Given the description of an element on the screen output the (x, y) to click on. 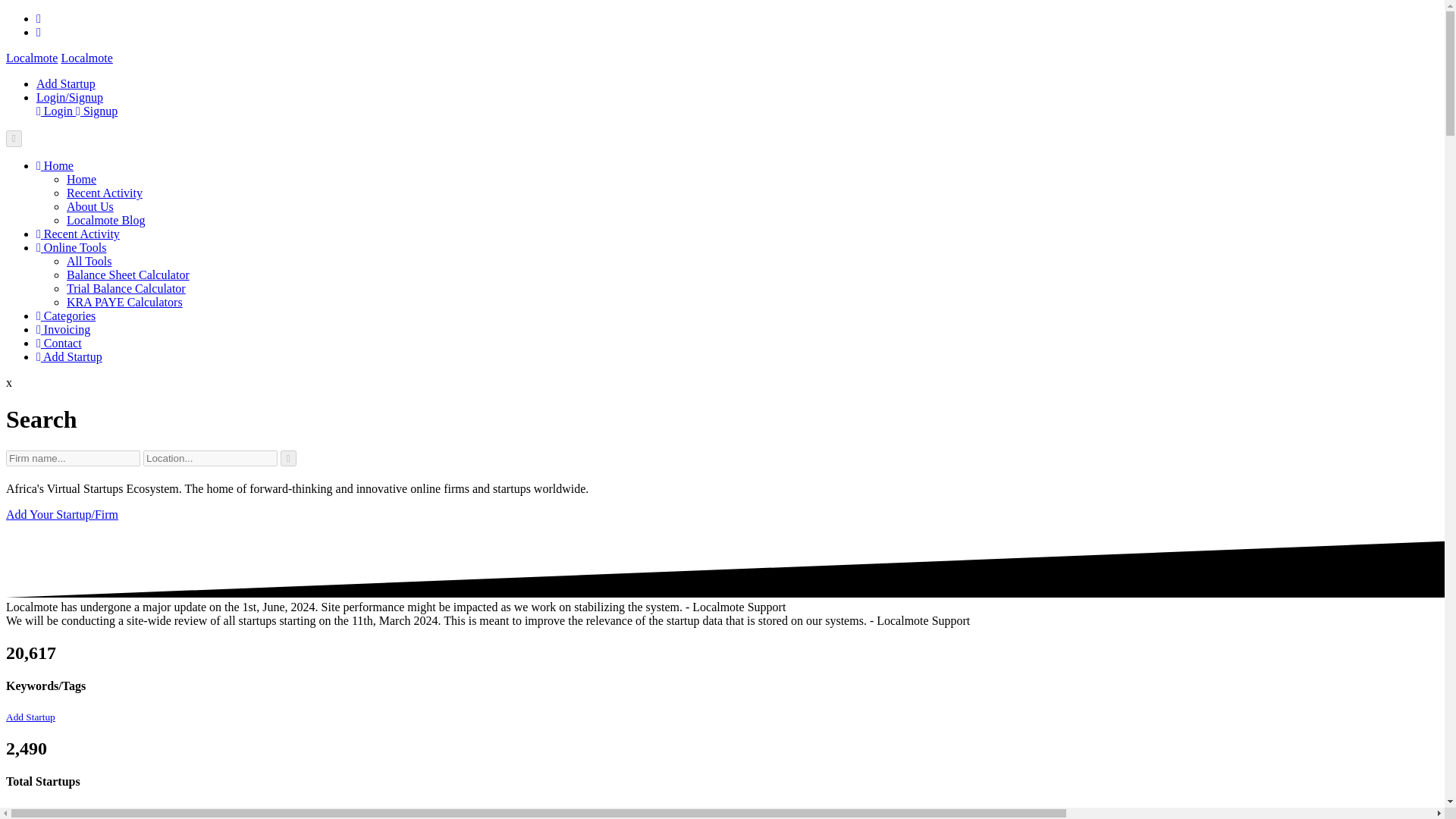
Recent Activity (77, 233)
KRA PAYE Calculators (124, 301)
Localmote Blog (105, 219)
Home (55, 164)
About Us (89, 205)
Add Startup (66, 83)
Add Startup (30, 716)
Add Startup (30, 811)
Balance Sheet Calculator (127, 274)
All Tools (89, 260)
Trial Balance Calculator (126, 287)
Invoicing (63, 328)
Login (55, 110)
Online Tools (71, 246)
Localmote (86, 57)
